Given the description of an element on the screen output the (x, y) to click on. 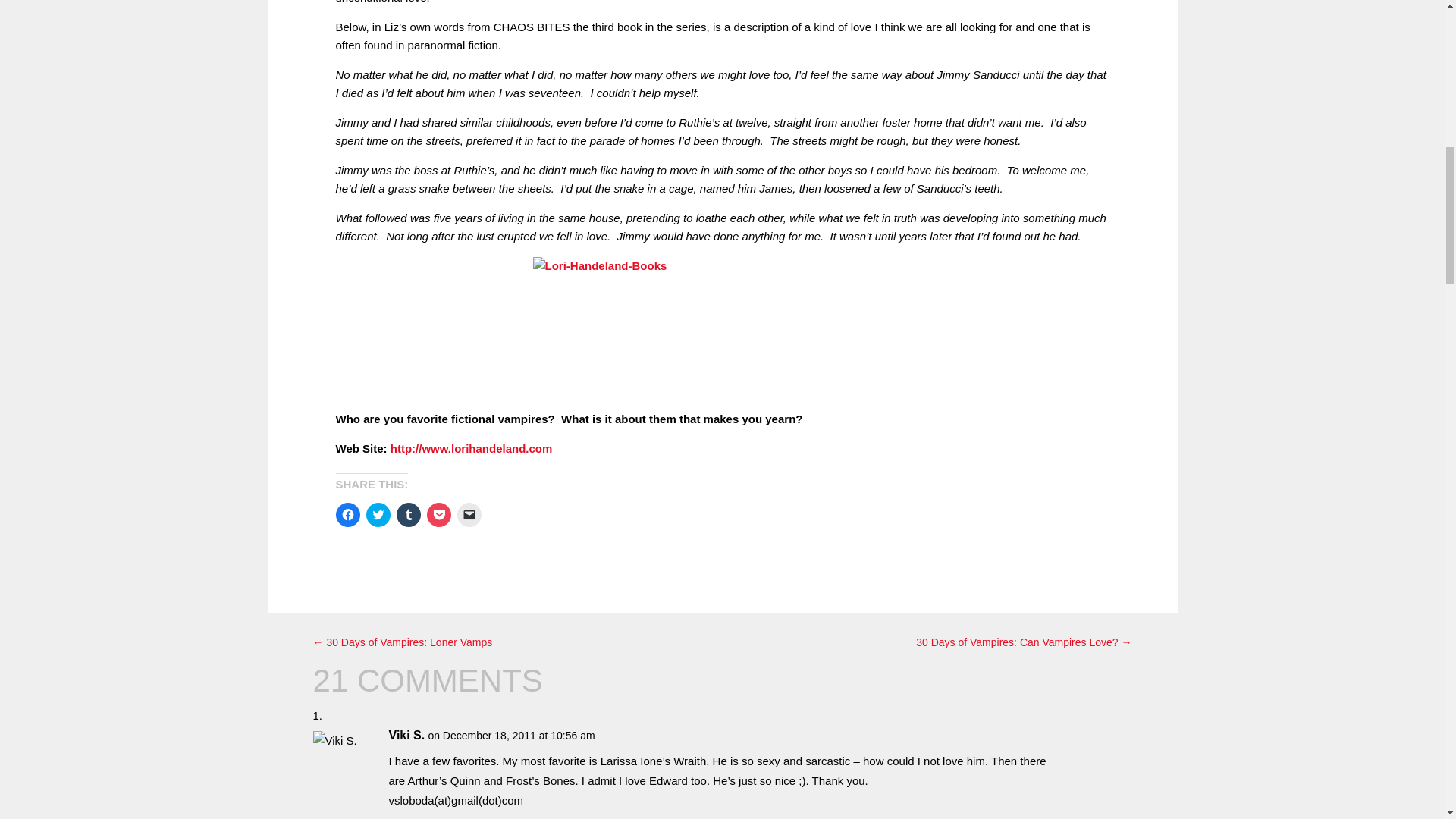
Click to share on Twitter (377, 514)
Click to share on Tumblr (408, 514)
Click to email a link to a friend (468, 514)
Click to share on Pocket (437, 514)
Click to share on Facebook (346, 514)
Lori-Handeland-Books (721, 333)
